Given the description of an element on the screen output the (x, y) to click on. 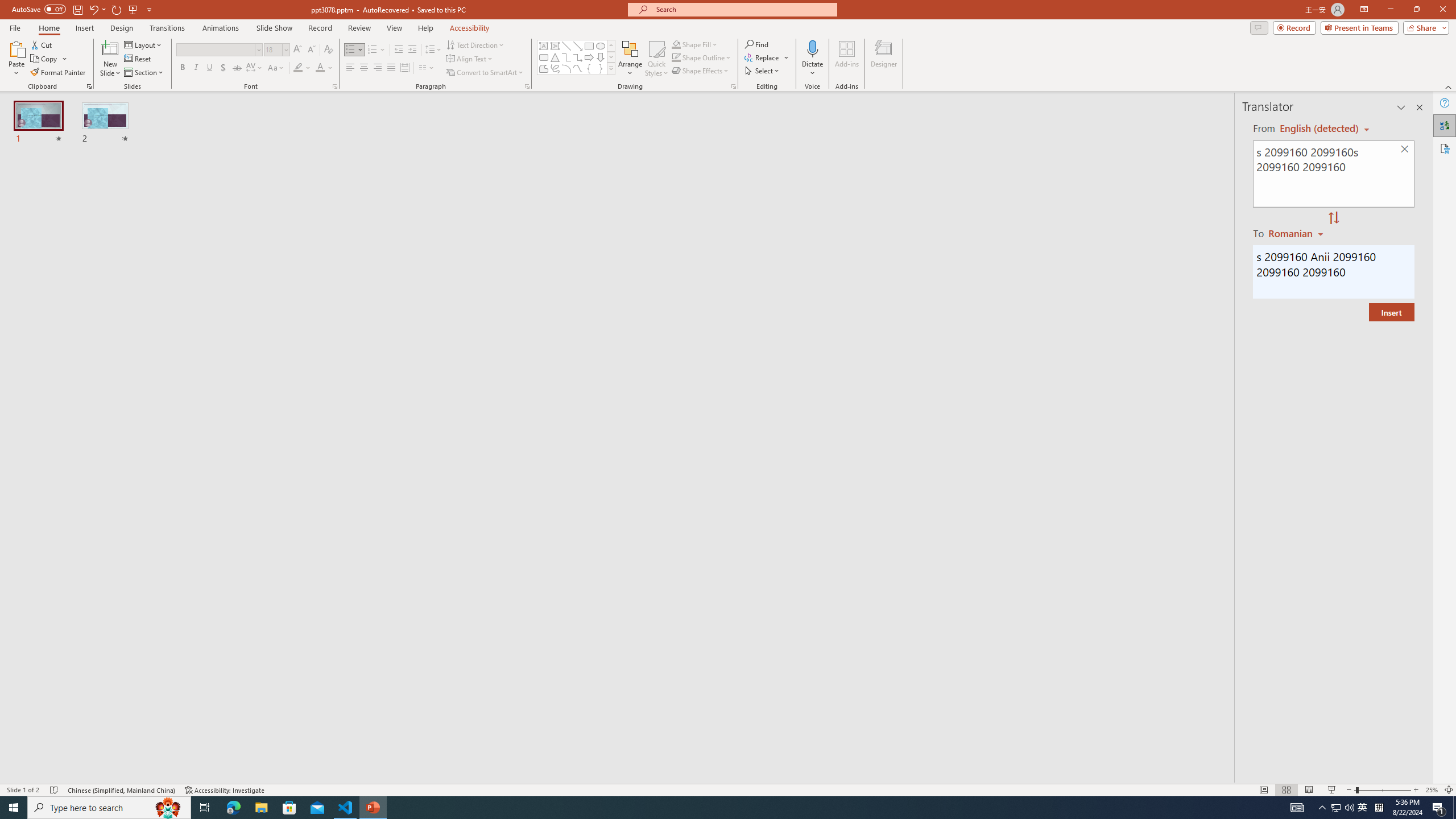
Zoom 25% (1431, 790)
Shape Fill Dark Green, Accent 2 (675, 44)
